Given the description of an element on the screen output the (x, y) to click on. 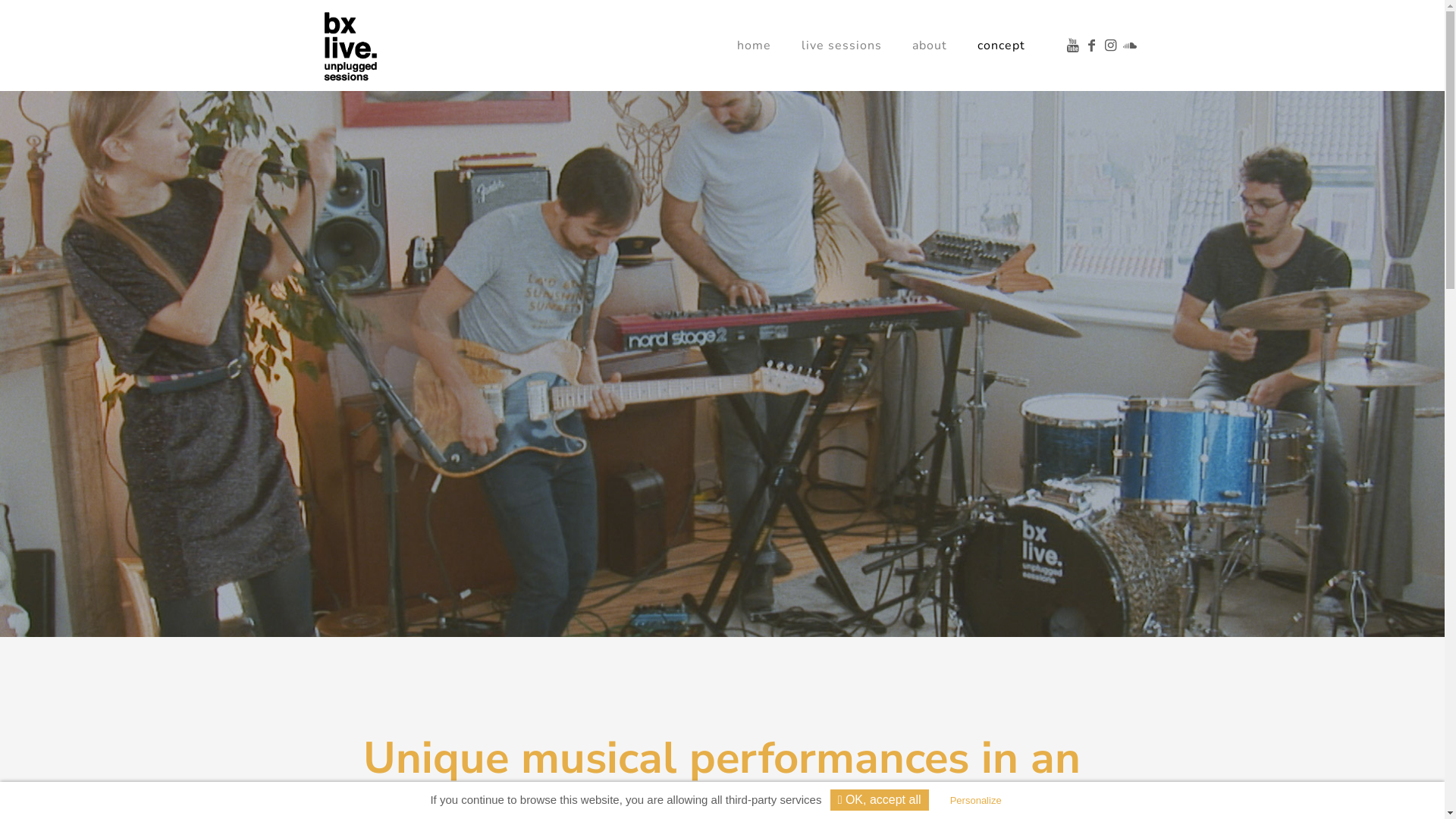
live sessions Element type: text (841, 45)
about Element type: text (929, 45)
Personalize Element type: text (975, 800)
home Element type: text (753, 45)
bxlive Element type: hover (349, 45)
concept Element type: text (1001, 45)
